Given the description of an element on the screen output the (x, y) to click on. 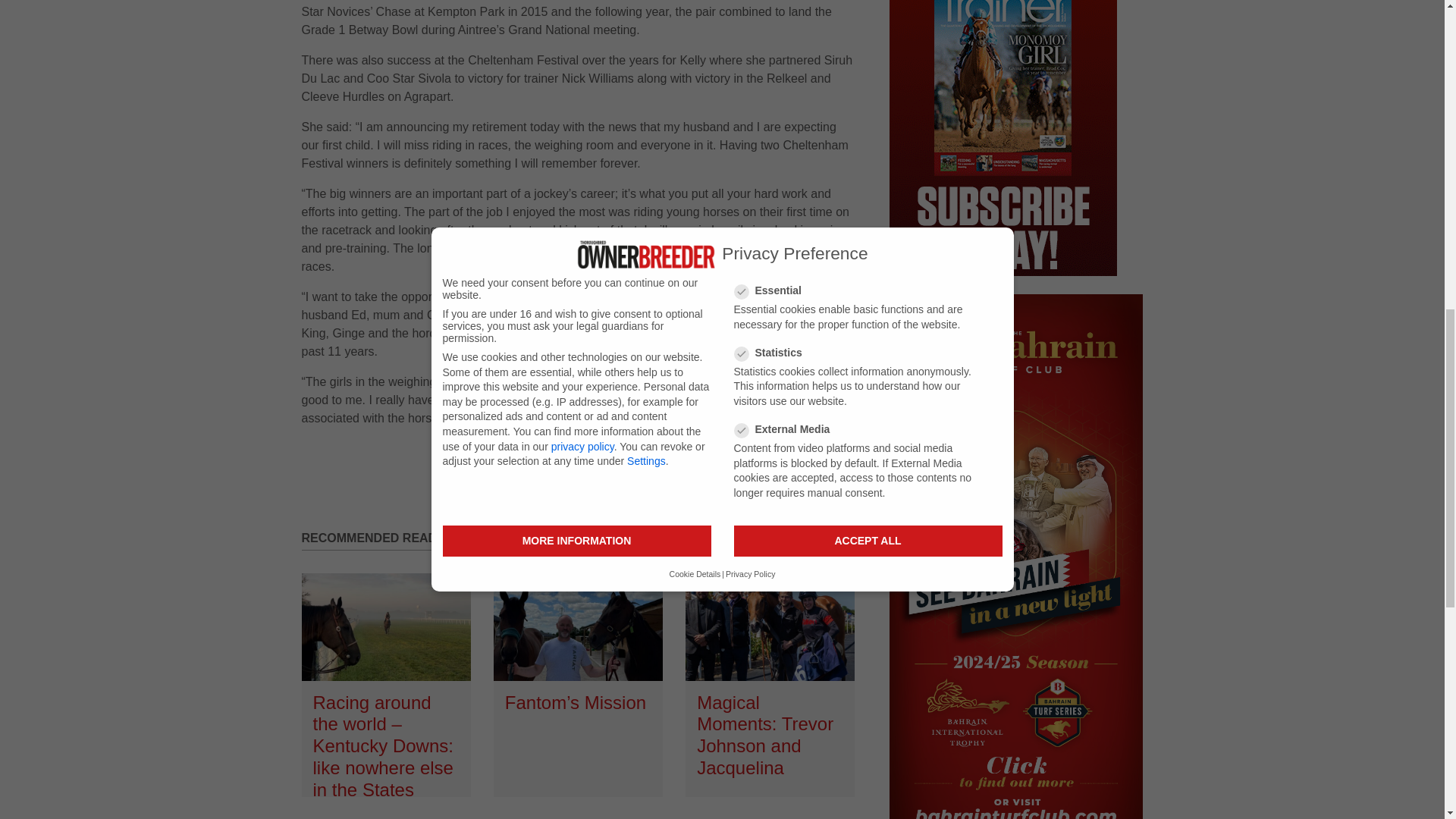
Facebook (772, 463)
X (805, 463)
